Given the description of an element on the screen output the (x, y) to click on. 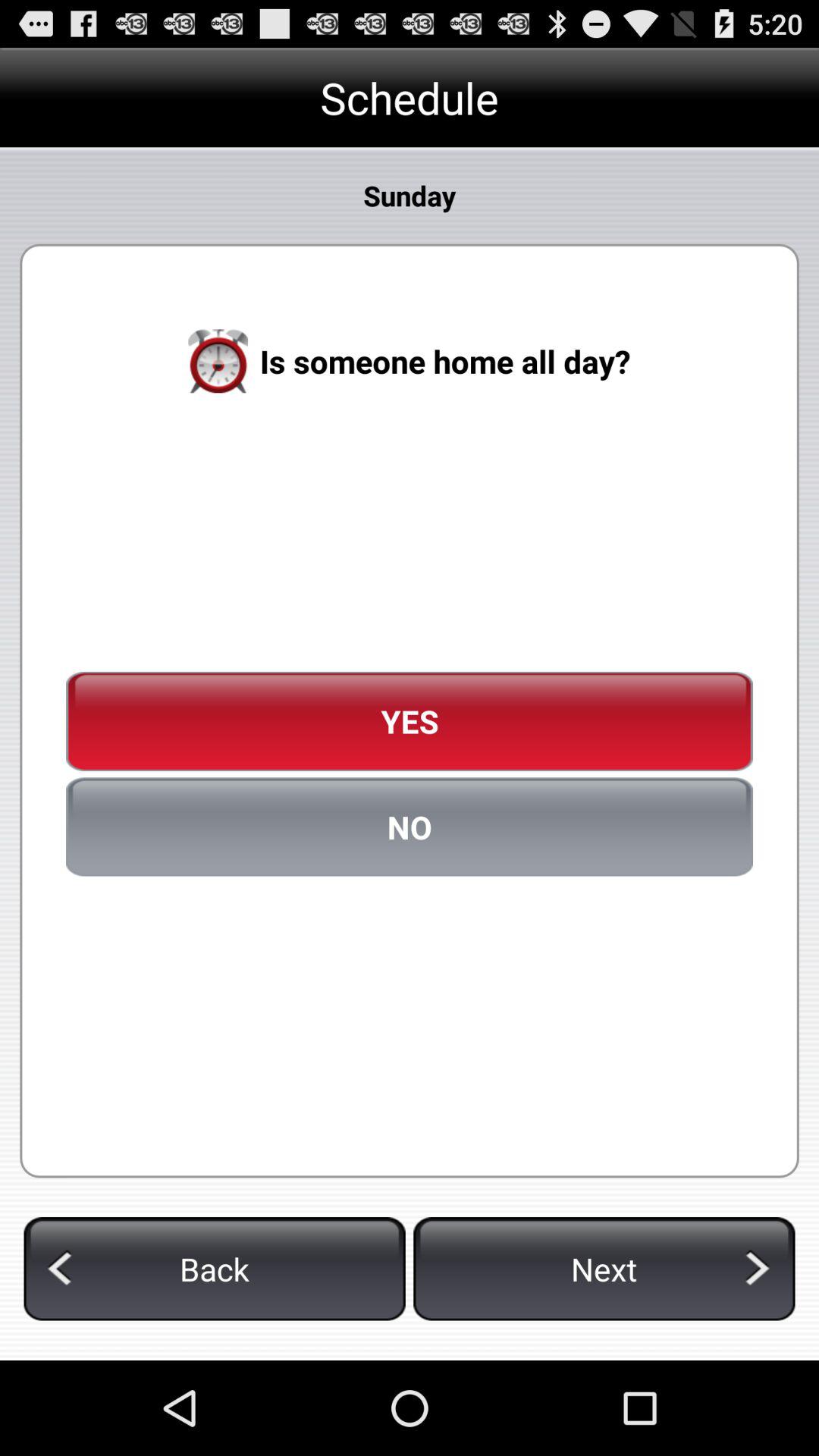
launch the icon above no icon (409, 721)
